Given the description of an element on the screen output the (x, y) to click on. 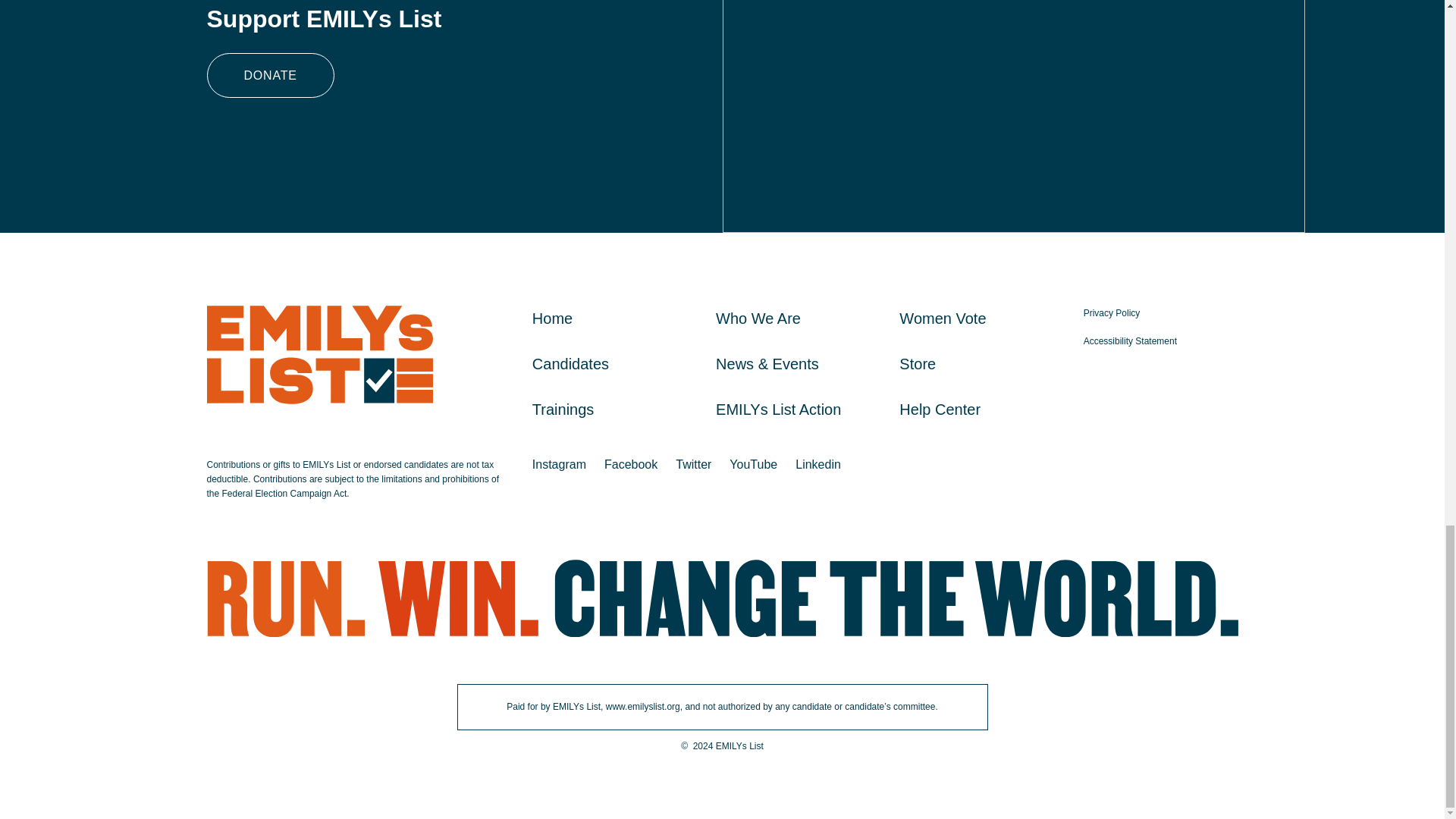
Home (552, 318)
Privacy Policy (1111, 313)
DONATE (269, 75)
Help Center (939, 409)
Women Vote (942, 318)
Trainings (563, 409)
Store (917, 363)
Who We Are (758, 318)
EMILYs List Action (778, 409)
Candidates (570, 363)
